Given the description of an element on the screen output the (x, y) to click on. 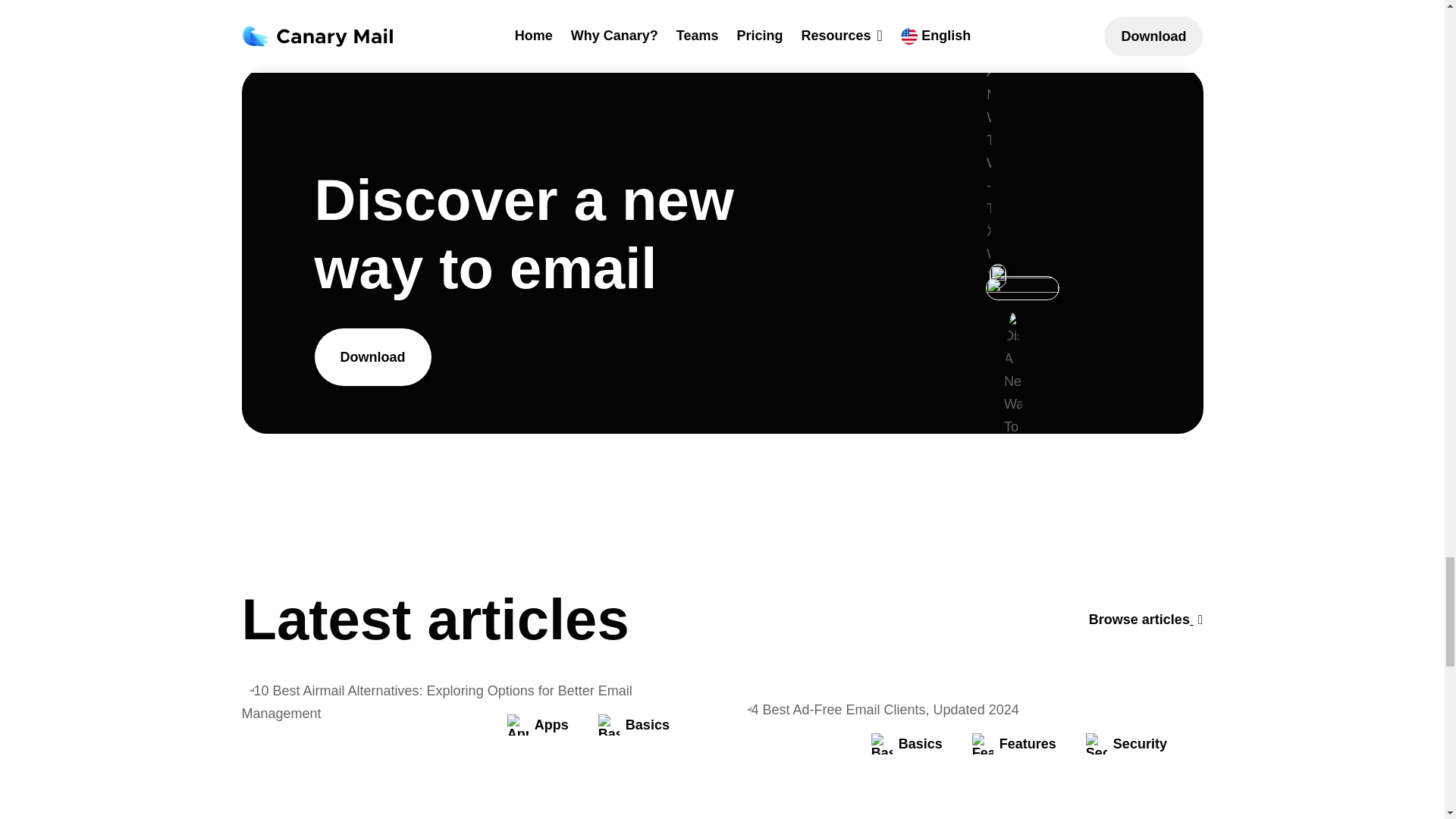
Download (372, 356)
